Given the description of an element on the screen output the (x, y) to click on. 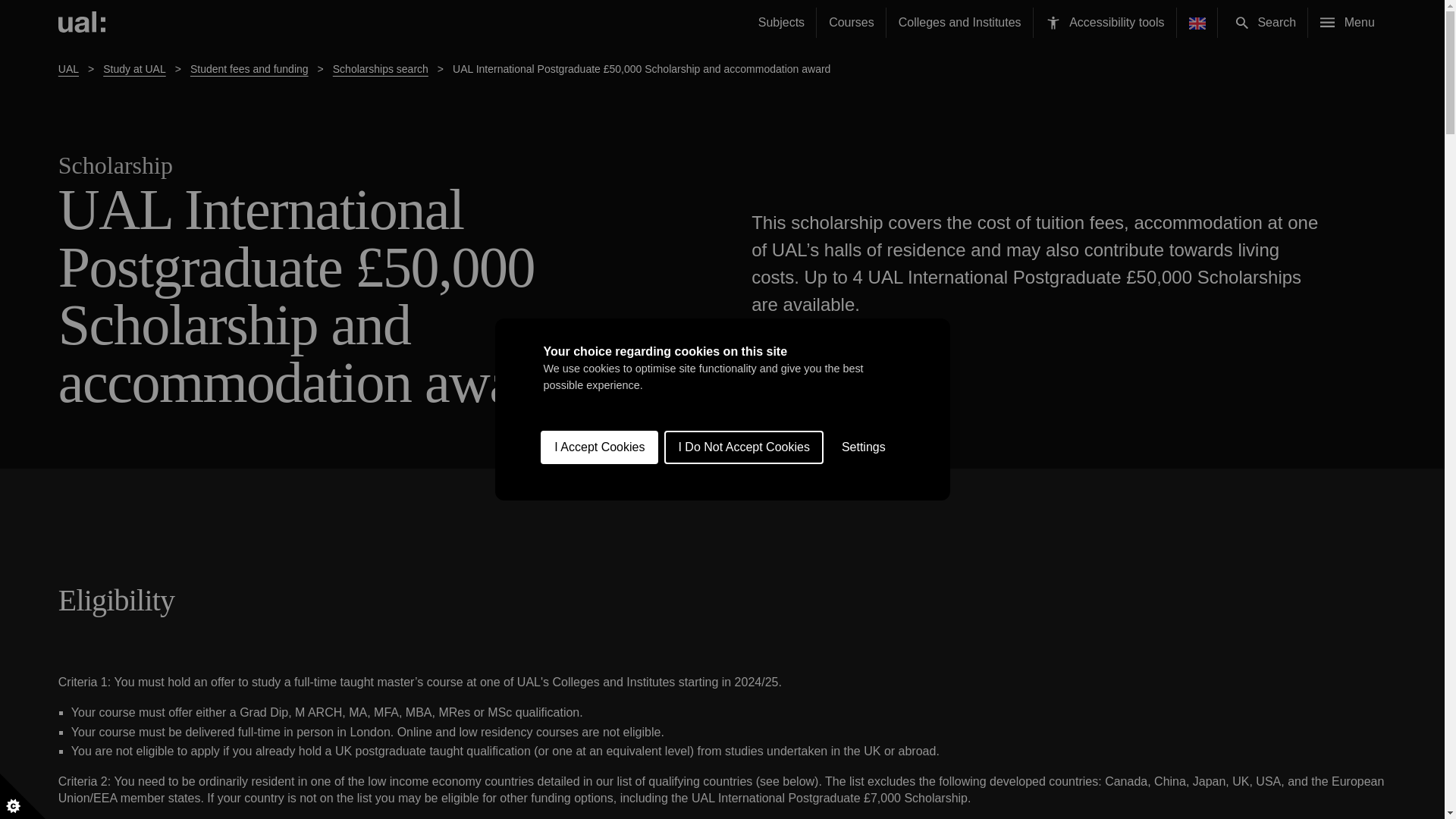
Menu (1347, 22)
Settings (863, 660)
Accessibility setting (1053, 22)
Colleges and Institutes (959, 22)
Subjects (780, 22)
Courses (851, 22)
I Accept Cookies (599, 693)
Accessibility setting Accessibility tools (1104, 22)
I Do Not Accept Cookies (742, 683)
Search (1241, 22)
